Given the description of an element on the screen output the (x, y) to click on. 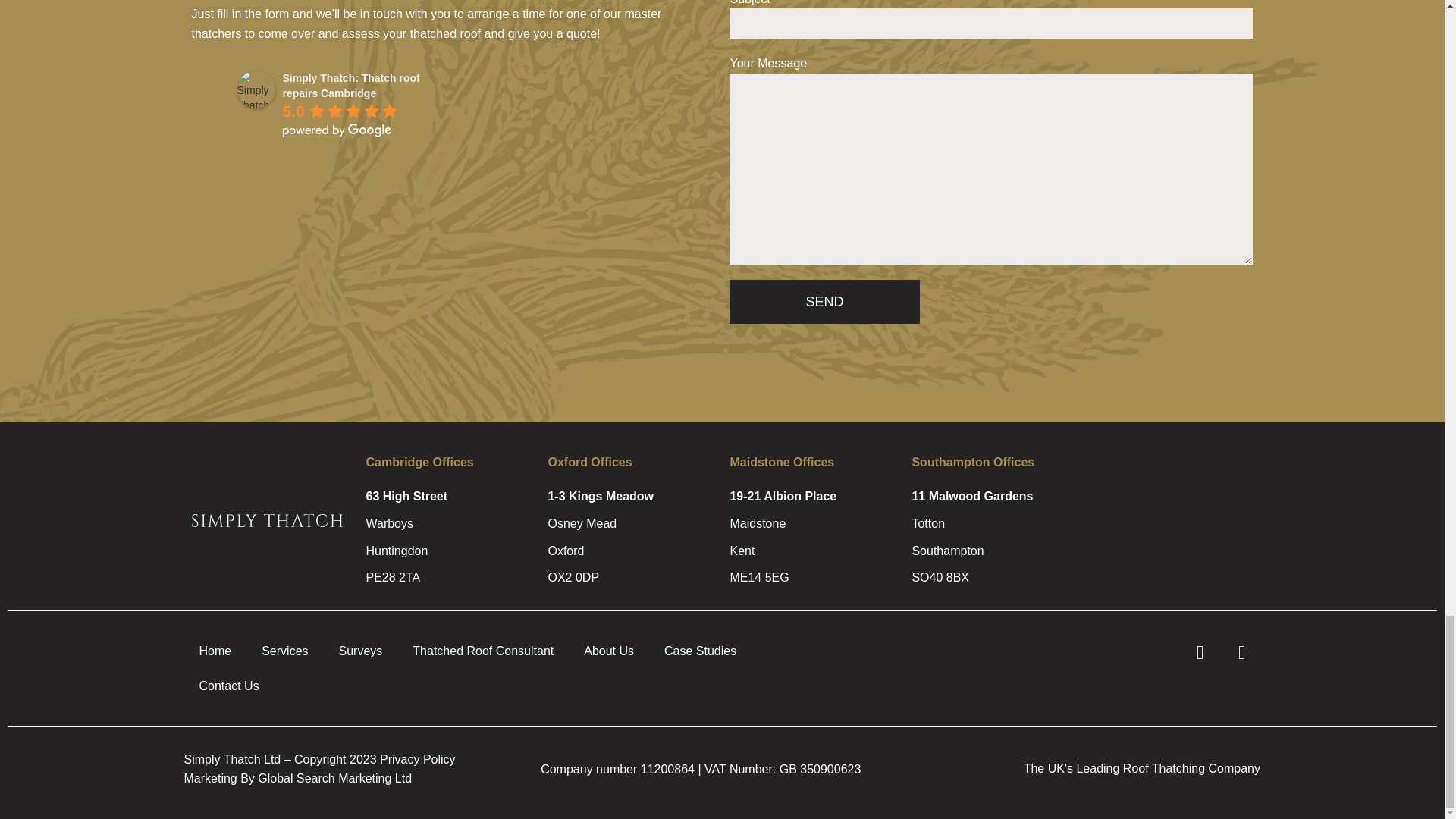
Simply Thatch: Thatch roof repairs Cambridge (255, 89)
powered by Google (336, 130)
Send (823, 301)
